Given the description of an element on the screen output the (x, y) to click on. 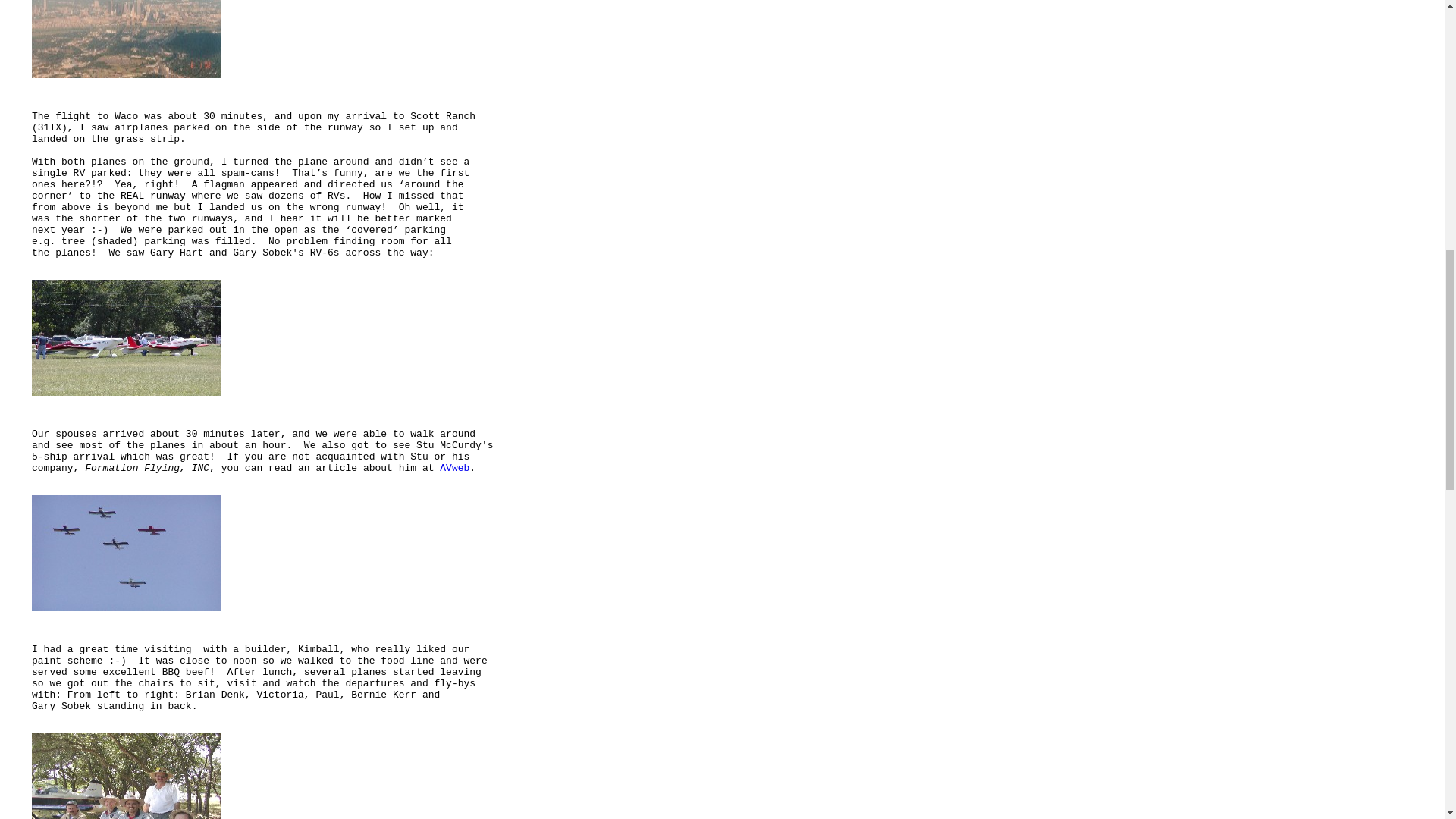
AVweb (453, 468)
